Given the description of an element on the screen output the (x, y) to click on. 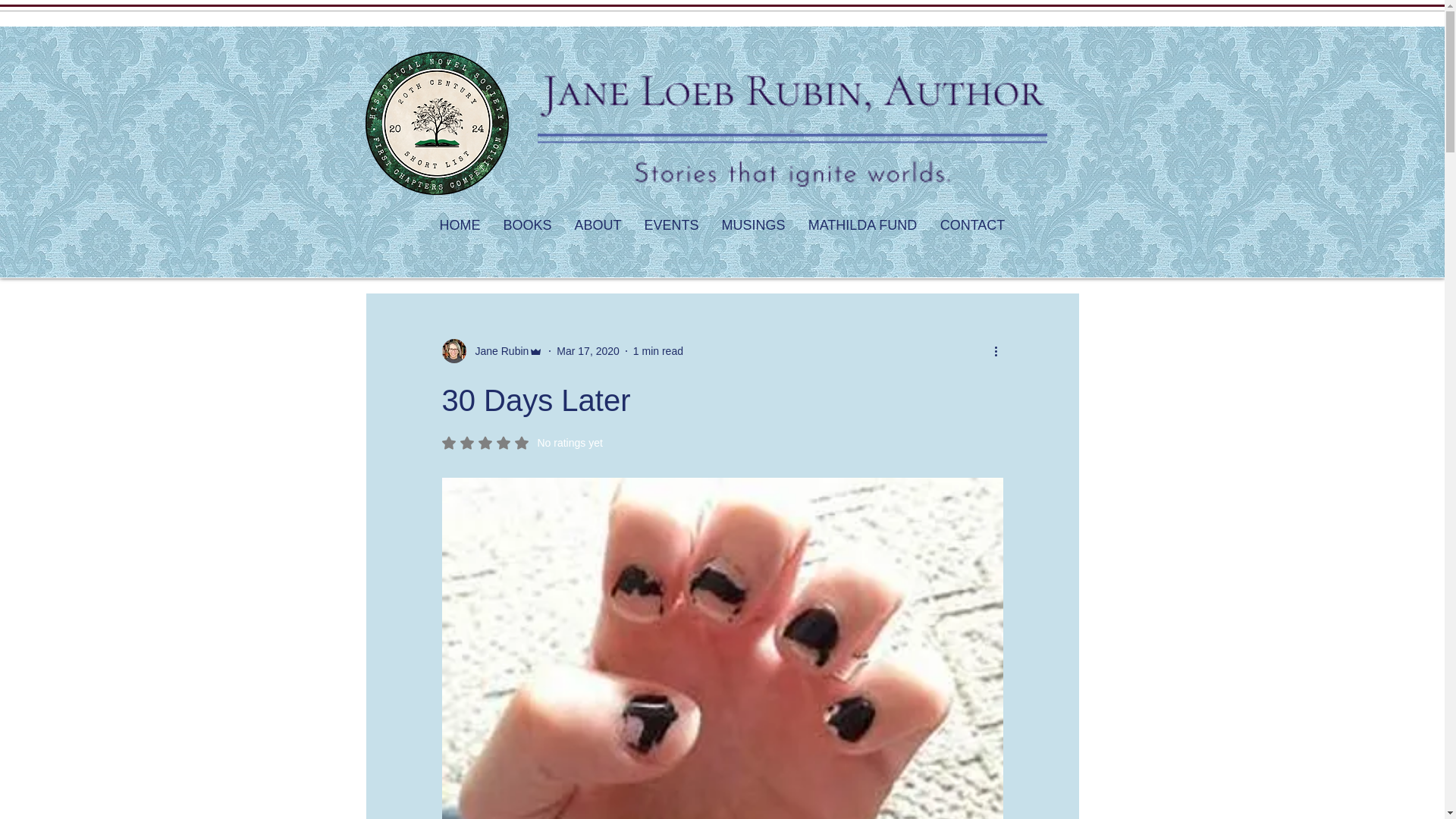
Jane Rubin (496, 350)
EVENTS (670, 225)
1 min read (657, 349)
MATHILDA FUND (862, 225)
Mar 17, 2020 (588, 349)
ABOUT (596, 225)
Logo-1704291039322.png (791, 131)
CONTACT (972, 225)
HOME (460, 225)
MUSINGS (521, 442)
